Given the description of an element on the screen output the (x, y) to click on. 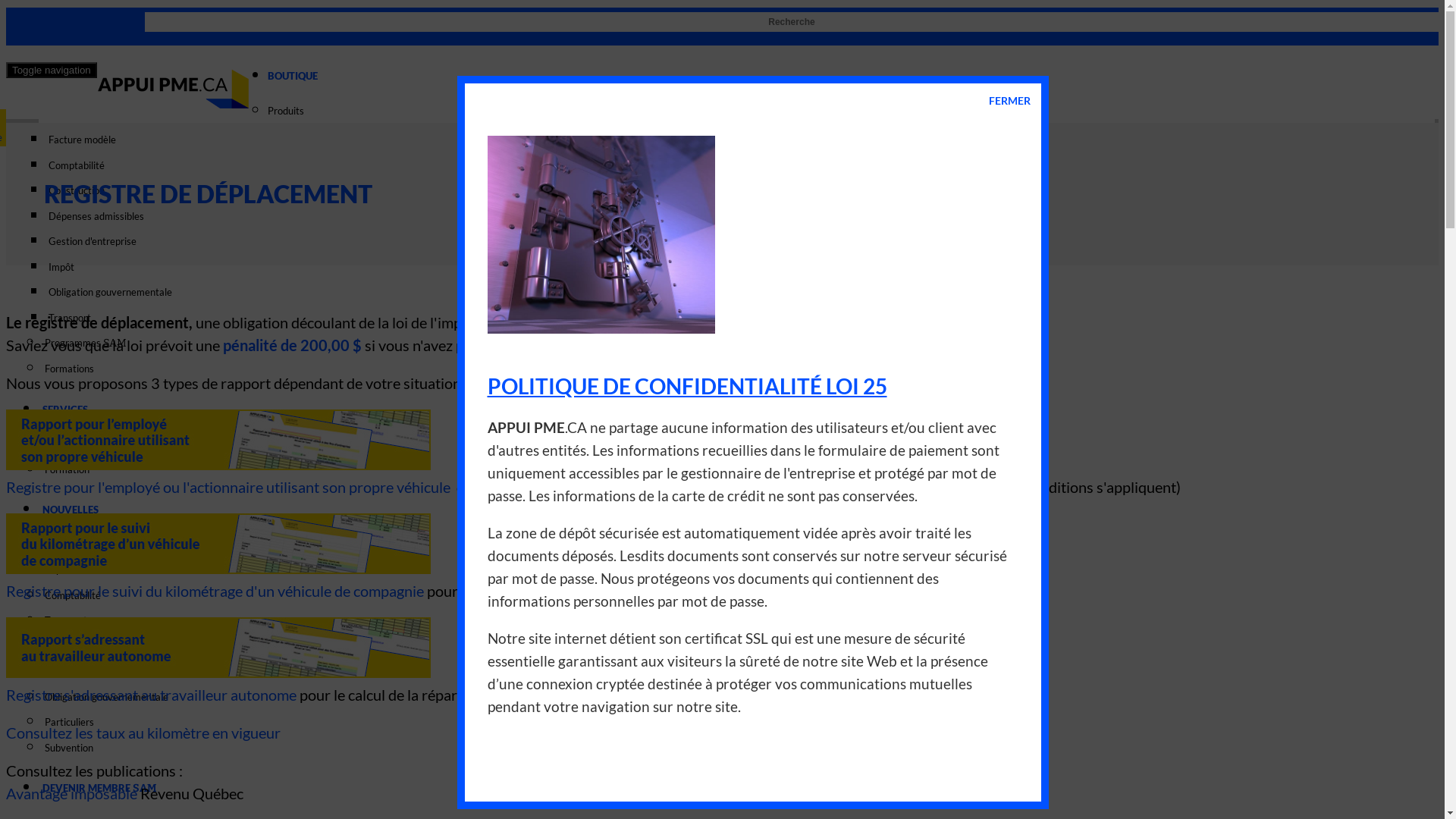
Obligation gouvernementale Element type: text (736, 292)
Obligation gouvernementale Element type: text (736, 697)
Formation Element type: text (736, 470)
Gestion d'entreprise Element type: text (736, 241)
Particuliers Element type: text (736, 722)
Transport Element type: text (736, 317)
SERVICES Element type: text (736, 411)
Taxes Element type: text (736, 646)
Liste des services Element type: text (736, 444)
Construction Element type: text (736, 190)
Construction Element type: text (736, 671)
DEVENIR MEMBRE SAM Element type: text (736, 789)
APPUI PME.CA Element type: hover (172, 88)
Produits Element type: text (736, 111)
Avantage imposable Element type: text (71, 793)
Programmes SAM Element type: text (736, 342)
Registre s'adressant au travailleur autonome Element type: text (151, 694)
Formations Element type: text (736, 369)
Toutes les nouvelles Element type: text (736, 545)
Transport Element type: text (736, 620)
NOUVELLES Element type: text (736, 511)
Subvention Element type: text (736, 748)
Toggle navigation Element type: text (51, 70)
BOUTIQUE Element type: text (736, 78)
